Given the description of an element on the screen output the (x, y) to click on. 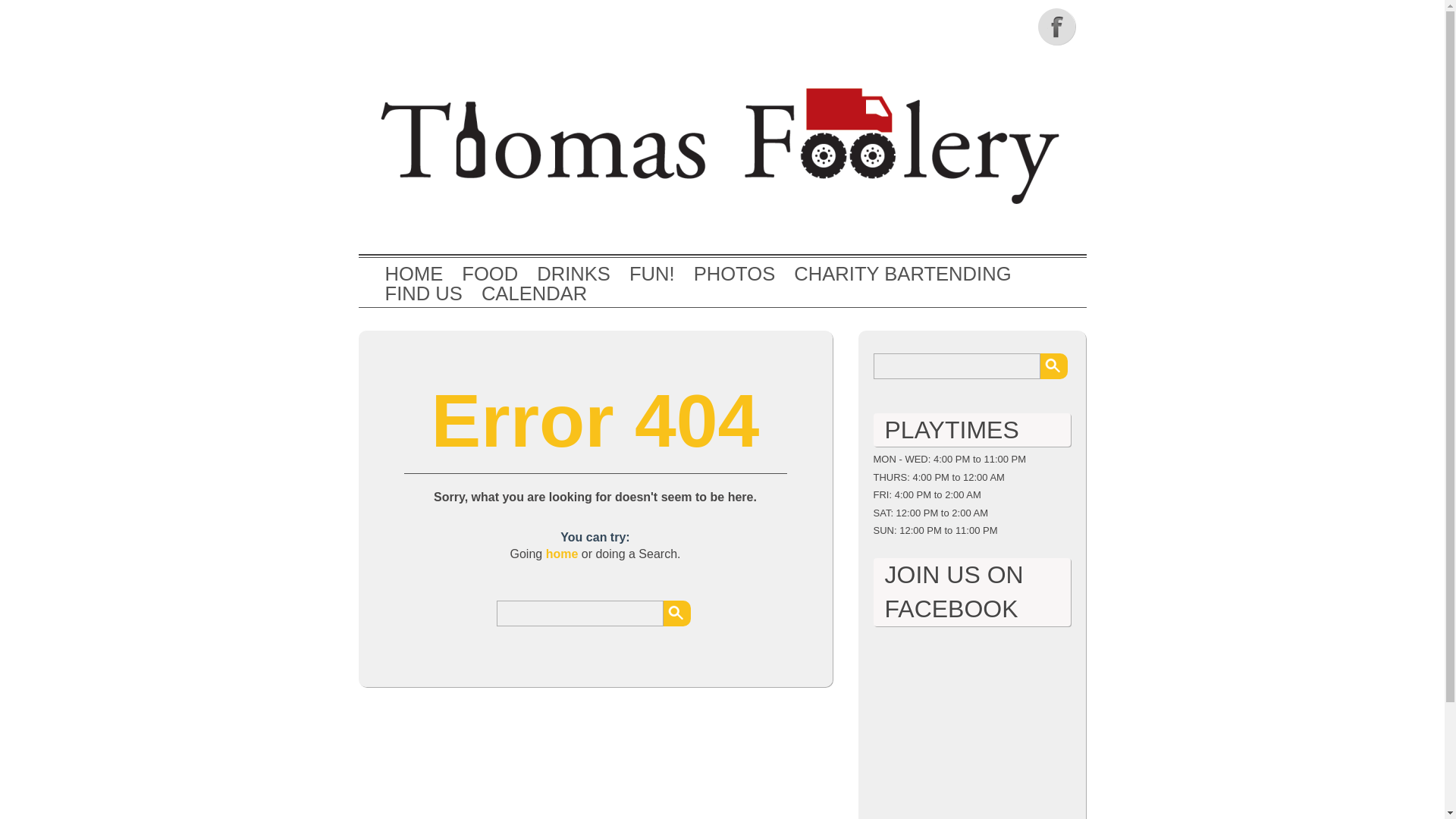
CHARITY BARTENDING (901, 274)
PHOTOS (735, 274)
FOOD (489, 274)
Search (676, 613)
home (562, 553)
FUN! (651, 274)
CALENDAR (533, 293)
Search (676, 613)
HOME (414, 274)
Search (1054, 365)
DRINKS (573, 274)
Facebook (1057, 26)
Search (1054, 365)
FIND US (424, 293)
